Given the description of an element on the screen output the (x, y) to click on. 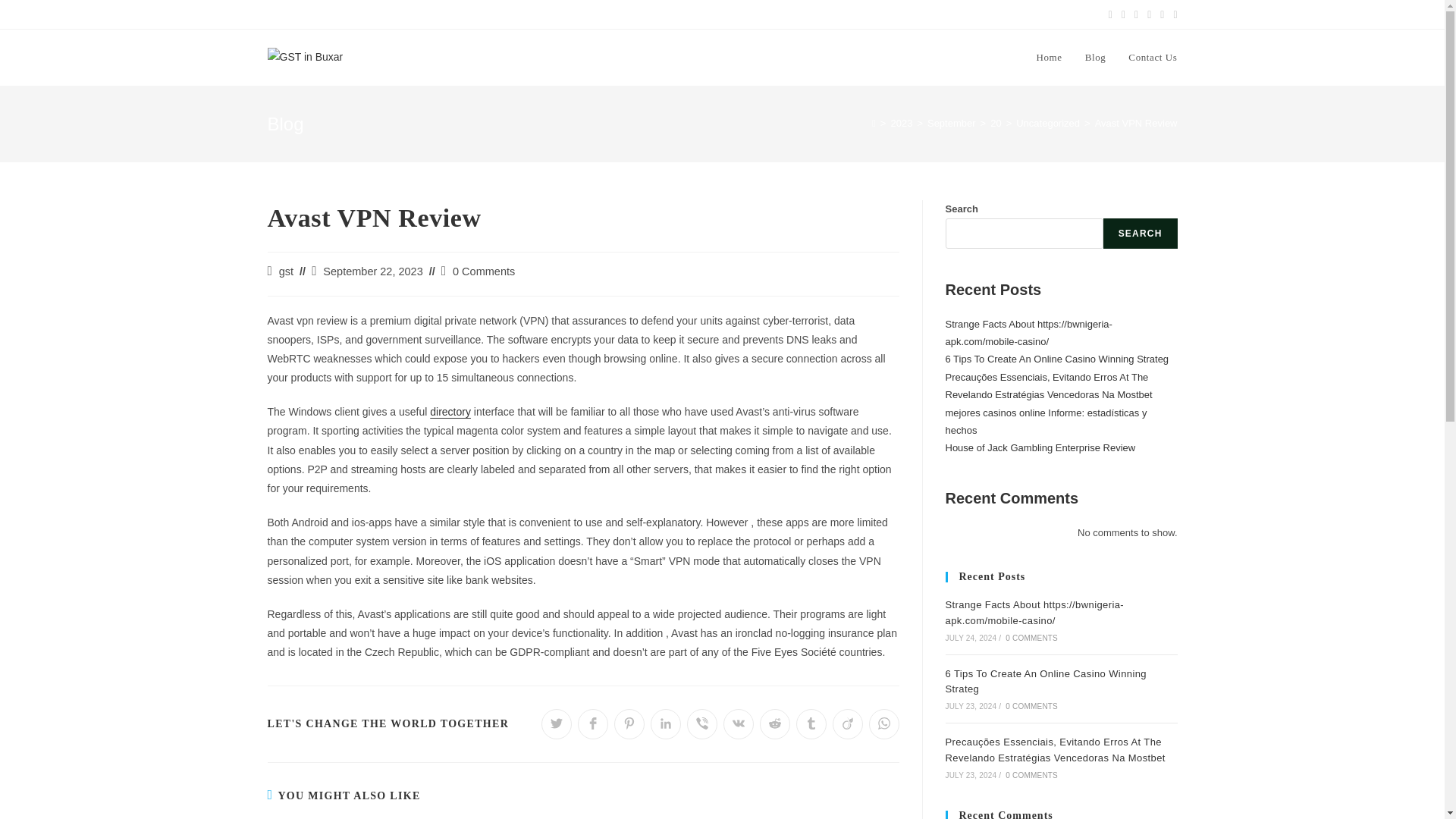
Opens in a new window (702, 724)
Posts by gst (286, 271)
Opens in a new window (556, 724)
Opens in a new window (775, 724)
Opens in a new window (738, 724)
Opens in a new window (811, 724)
directory (449, 411)
gst (286, 271)
Opens in a new window (884, 724)
Opens in a new window (665, 724)
Opens in a new window (847, 724)
2023 (900, 122)
Opens in a new window (629, 724)
Avast VPN Review (1135, 122)
Contact Us (1152, 57)
